Given the description of an element on the screen output the (x, y) to click on. 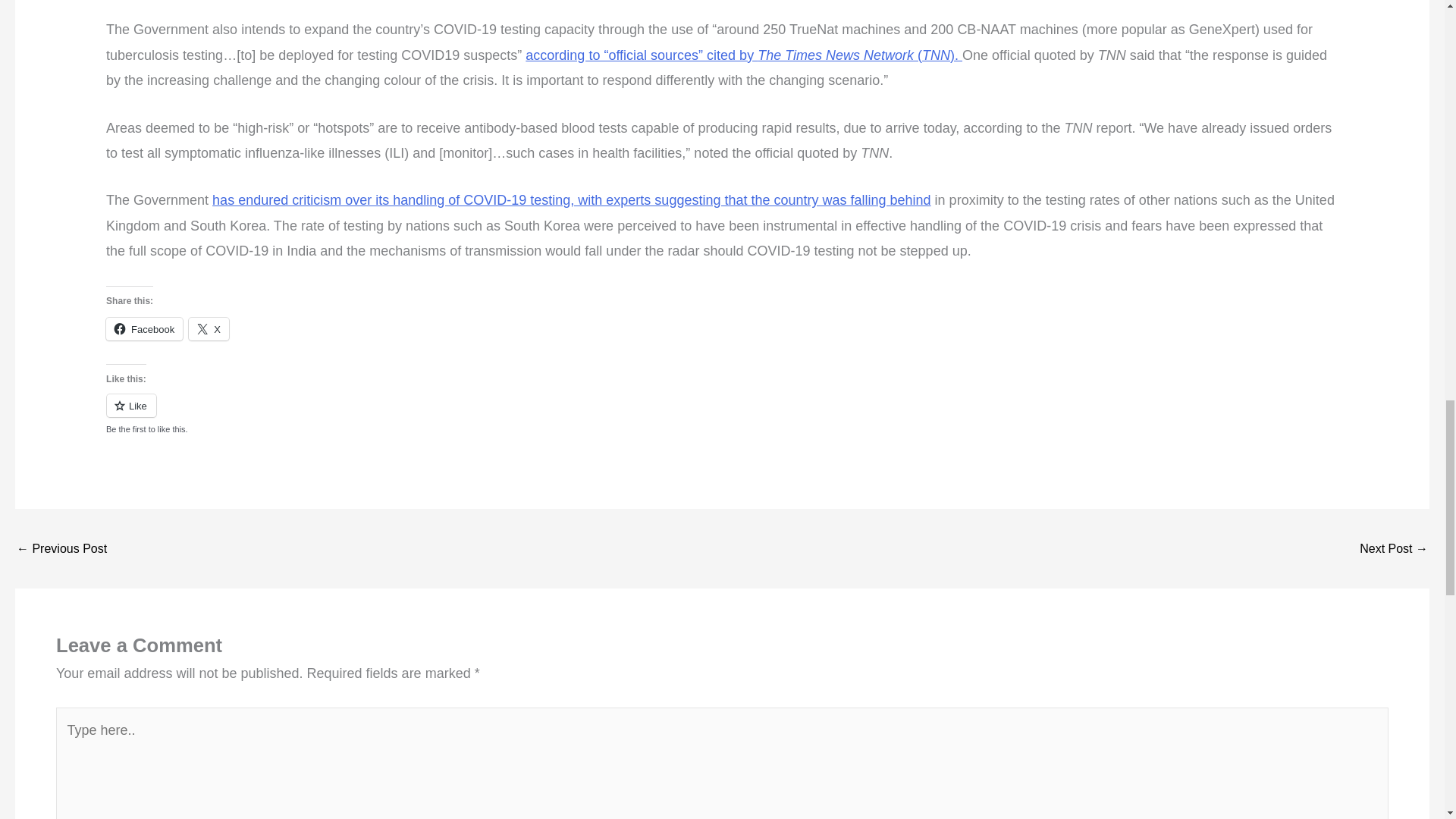
Click to share on Facebook (144, 328)
PPE shortages in India lessening (61, 548)
Coronavirus: Not just the disease of the old (1393, 548)
Like or Reblog (722, 413)
Click to share on X (208, 328)
